Given the description of an element on the screen output the (x, y) to click on. 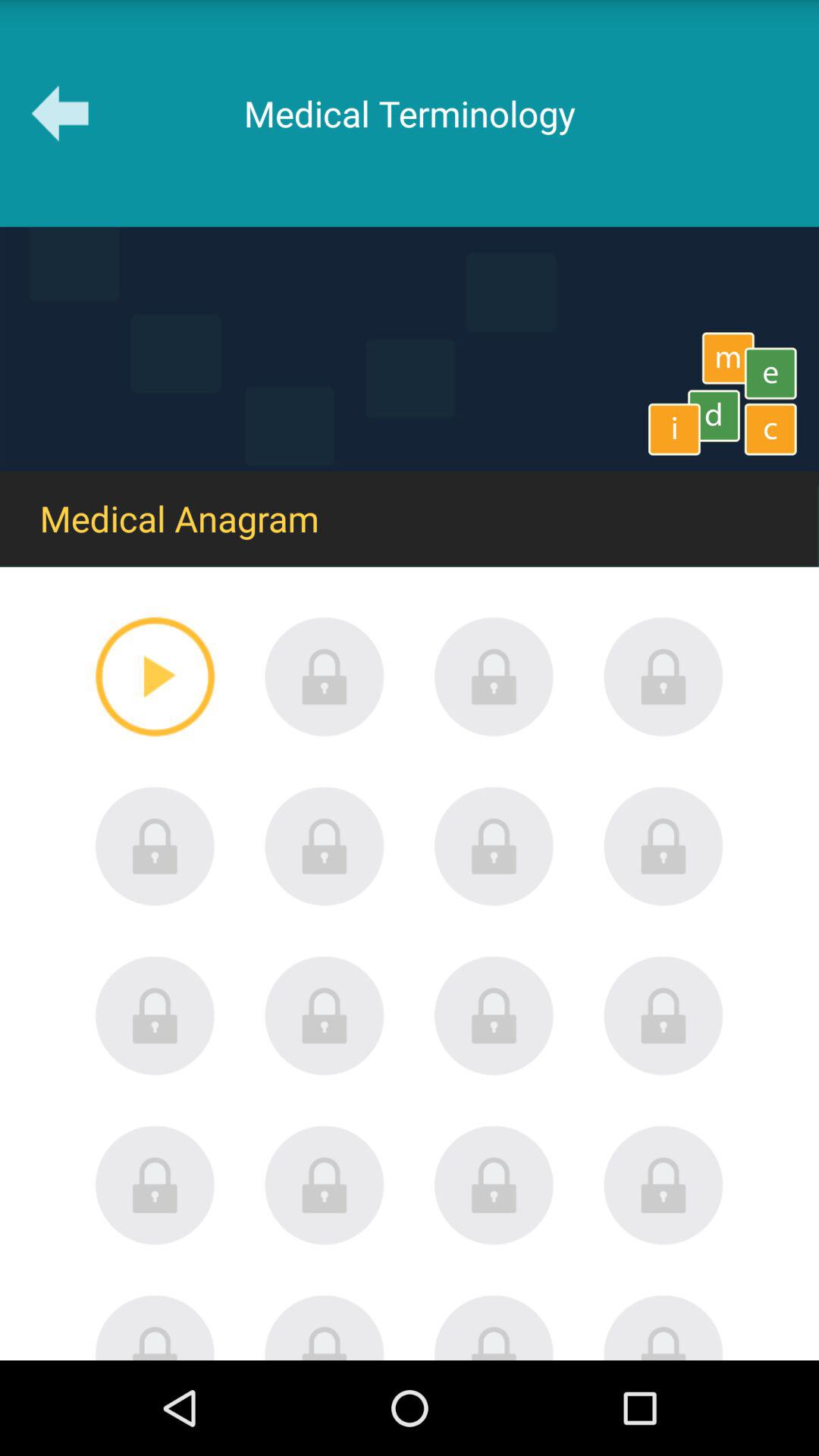
locked content (493, 1327)
